Given the description of an element on the screen output the (x, y) to click on. 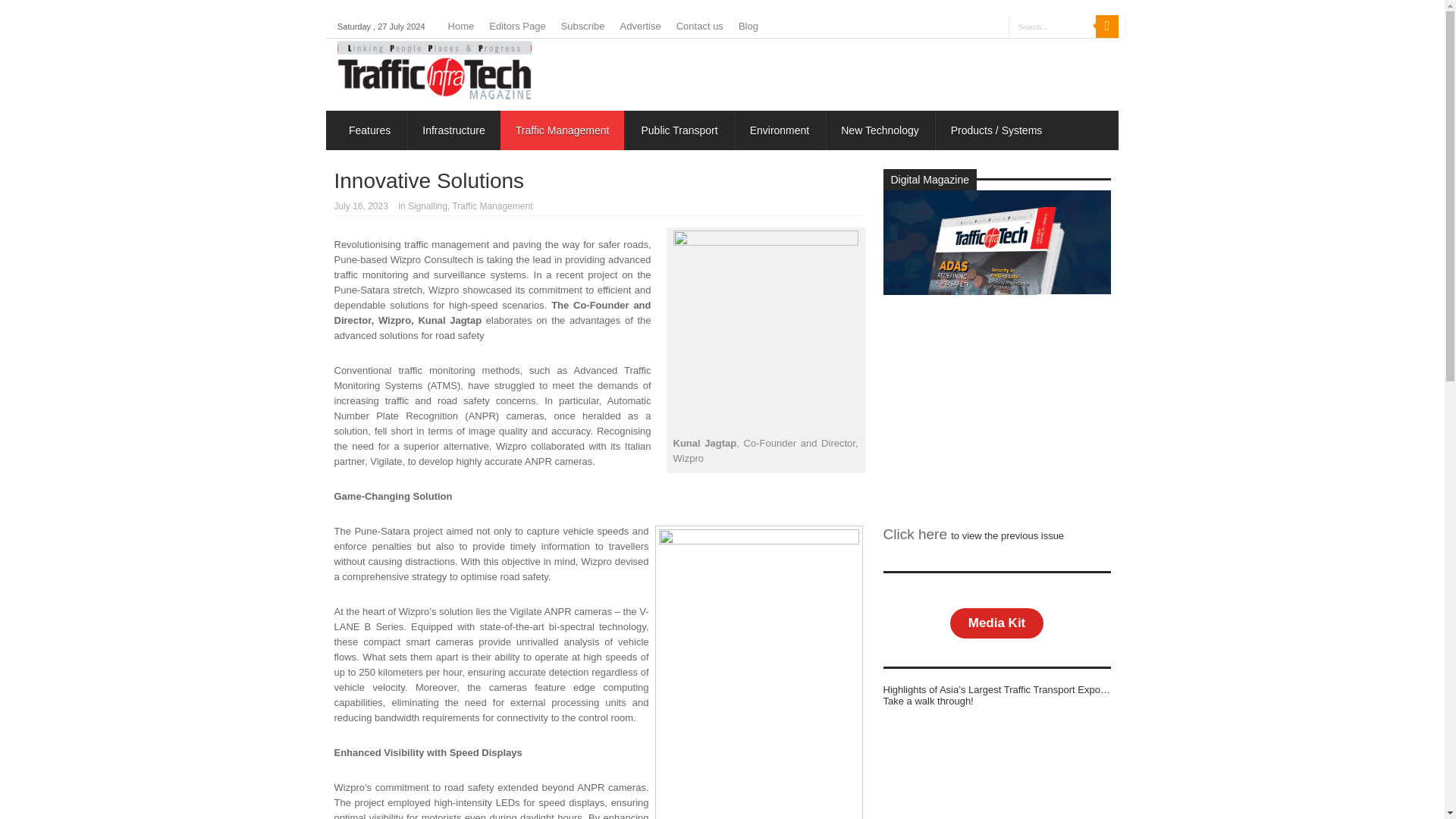
Features (369, 129)
Search... (1052, 25)
Public Transport (678, 129)
Infrastructure (452, 129)
Environment (779, 129)
Blog (747, 26)
TrafficInfraTech Magazine (434, 94)
Editors Page (517, 26)
Subscribe (582, 26)
Search (1107, 26)
Traffic Management (562, 129)
Home (461, 26)
Advertise (640, 26)
Contact us (699, 26)
